Given the description of an element on the screen output the (x, y) to click on. 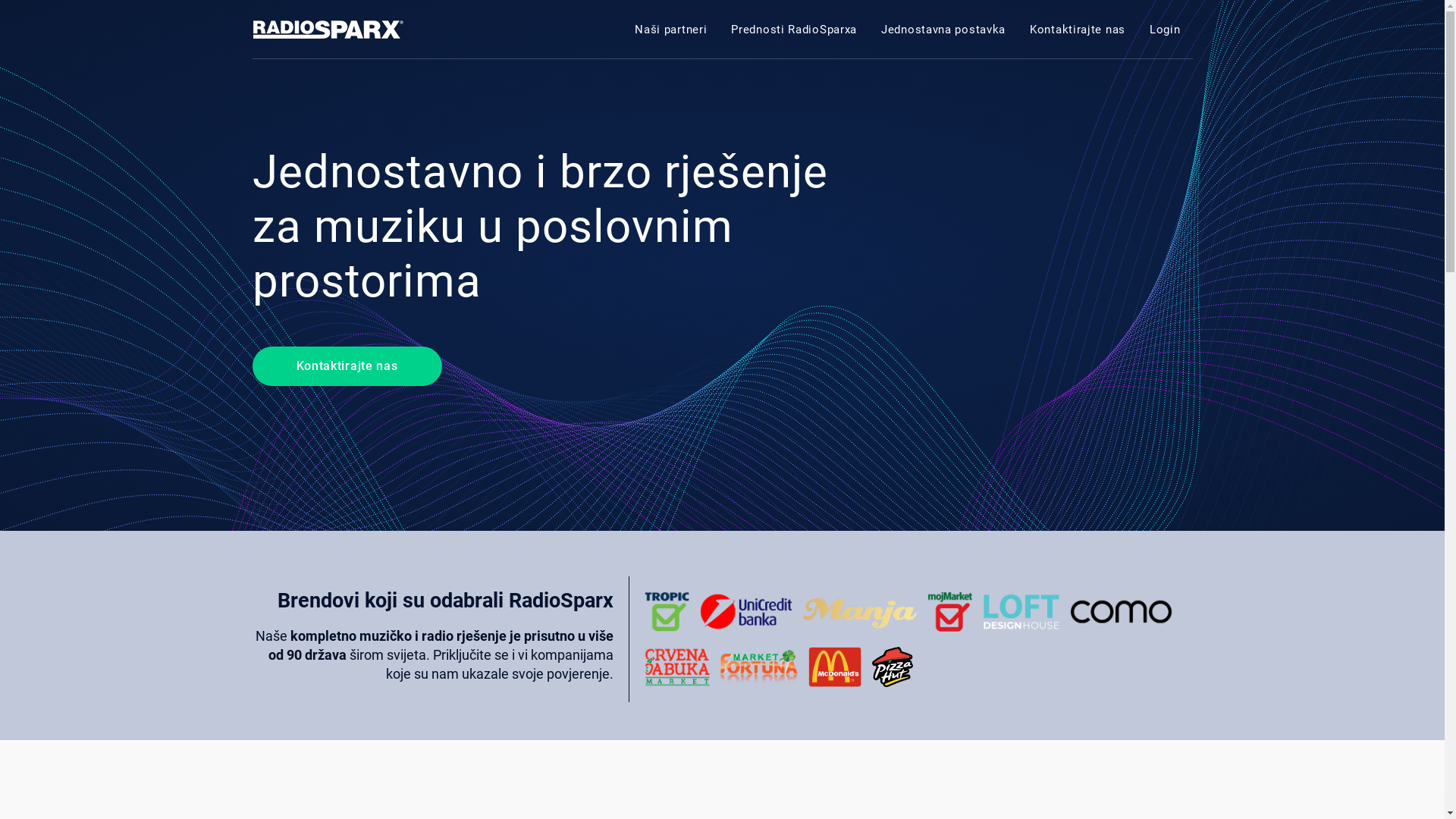
Kontaktirajte nas Element type: text (1077, 29)
Jednostavna postavka Element type: text (943, 29)
Kontaktirajte nas Element type: text (346, 365)
Login Element type: text (1164, 29)
Prednosti RadioSparxa Element type: text (793, 29)
